Given the description of an element on the screen output the (x, y) to click on. 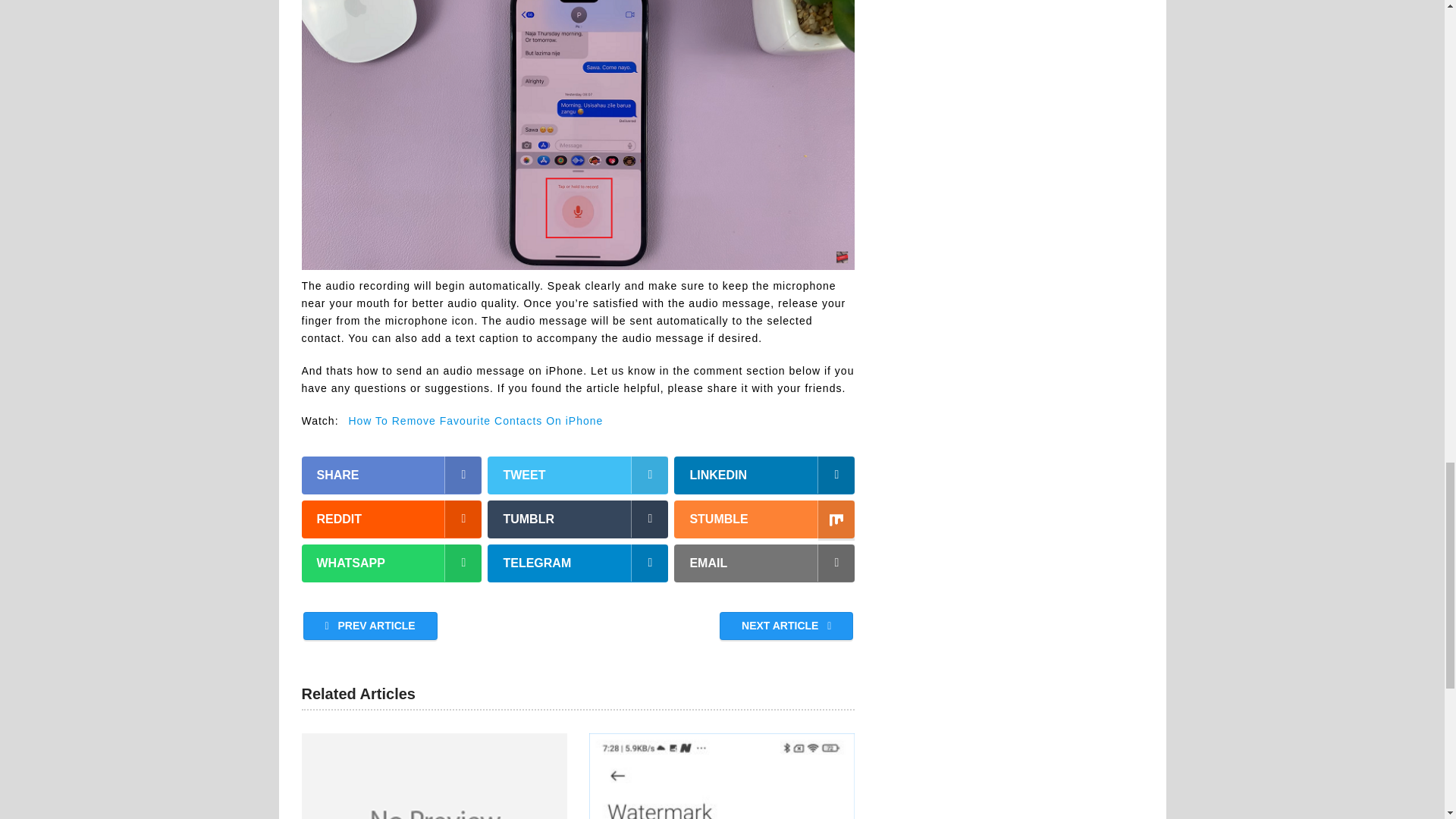
STUMBLE (764, 519)
EMAIL (764, 563)
NEXT ARTICLE (786, 625)
WHATSAPP (391, 563)
REDDIT (391, 519)
How To Remove Favourite Contacts On iPhone (475, 420)
LINKEDIN (764, 475)
How To Update Your Mac Operating System (434, 776)
PREV ARTICLE (370, 625)
TUMBLR (577, 519)
SHARE (391, 475)
TWEET (577, 475)
How To Add Timestamps To Photos On Redmi Note 10 (721, 776)
TELEGRAM (577, 563)
